Given the description of an element on the screen output the (x, y) to click on. 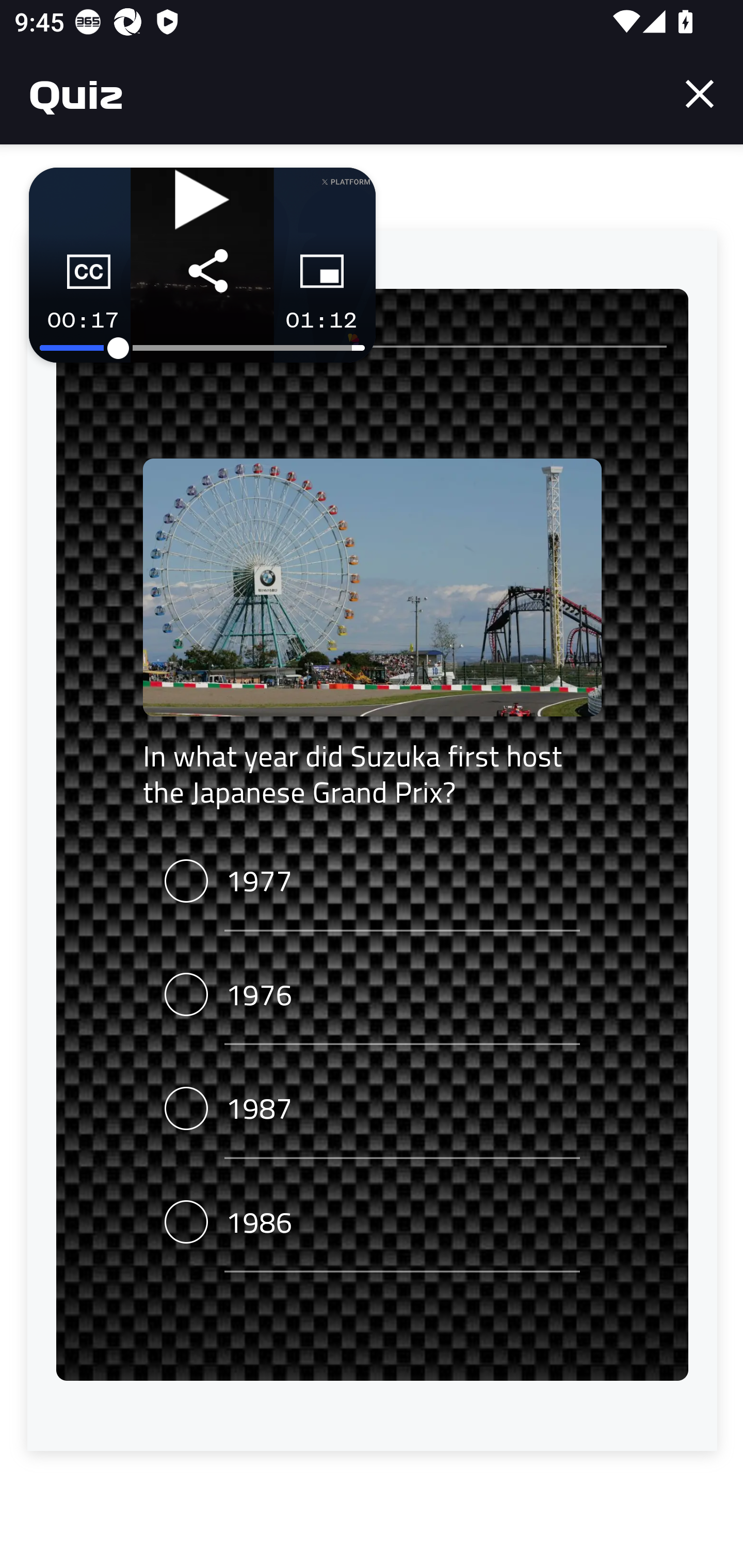
Close (699, 93)
1977 (372, 881)
1976 (372, 995)
1987 (372, 1108)
1986 (372, 1222)
